Given the description of an element on the screen output the (x, y) to click on. 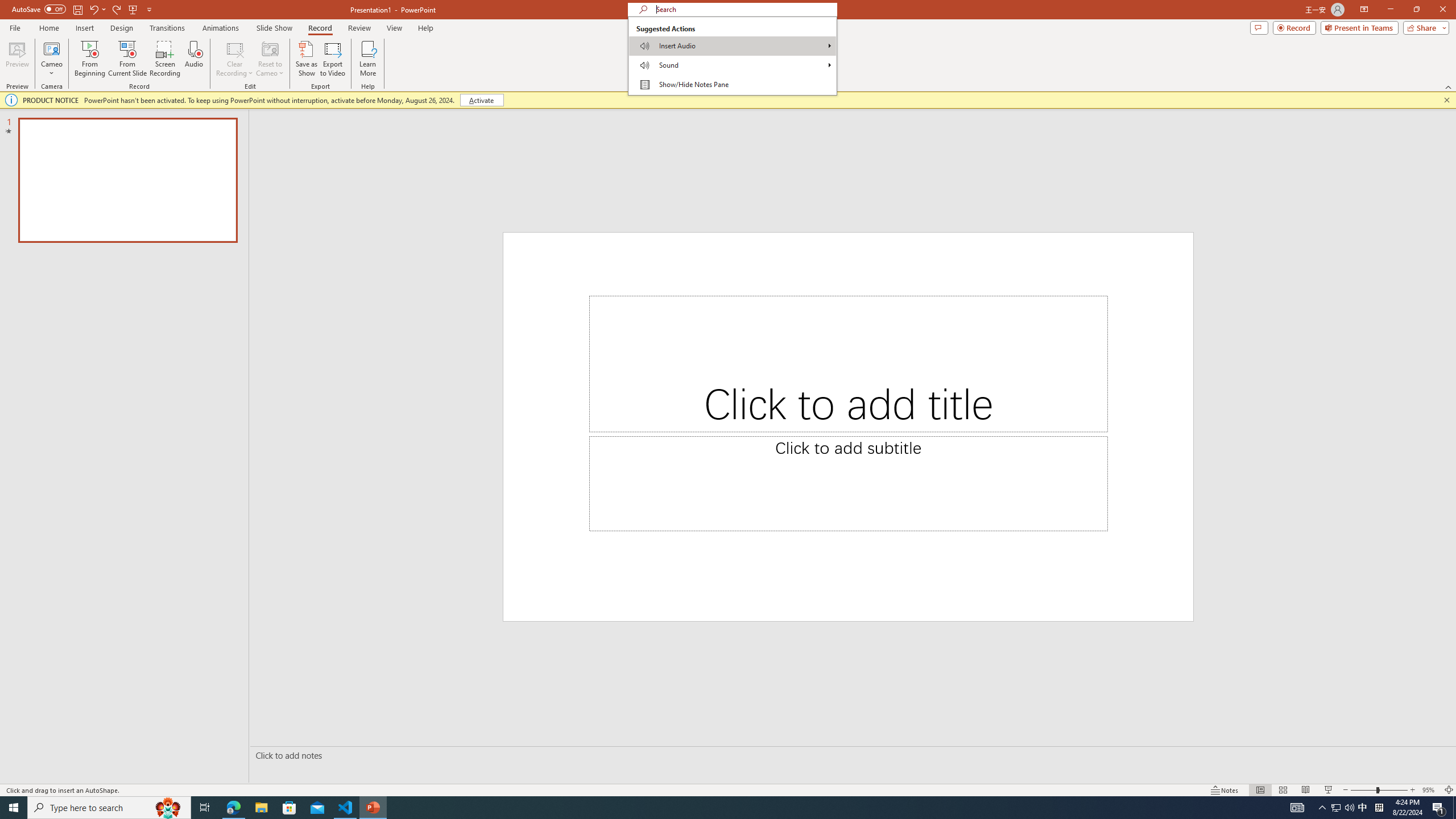
Zoom 95% (1430, 790)
